Given the description of an element on the screen output the (x, y) to click on. 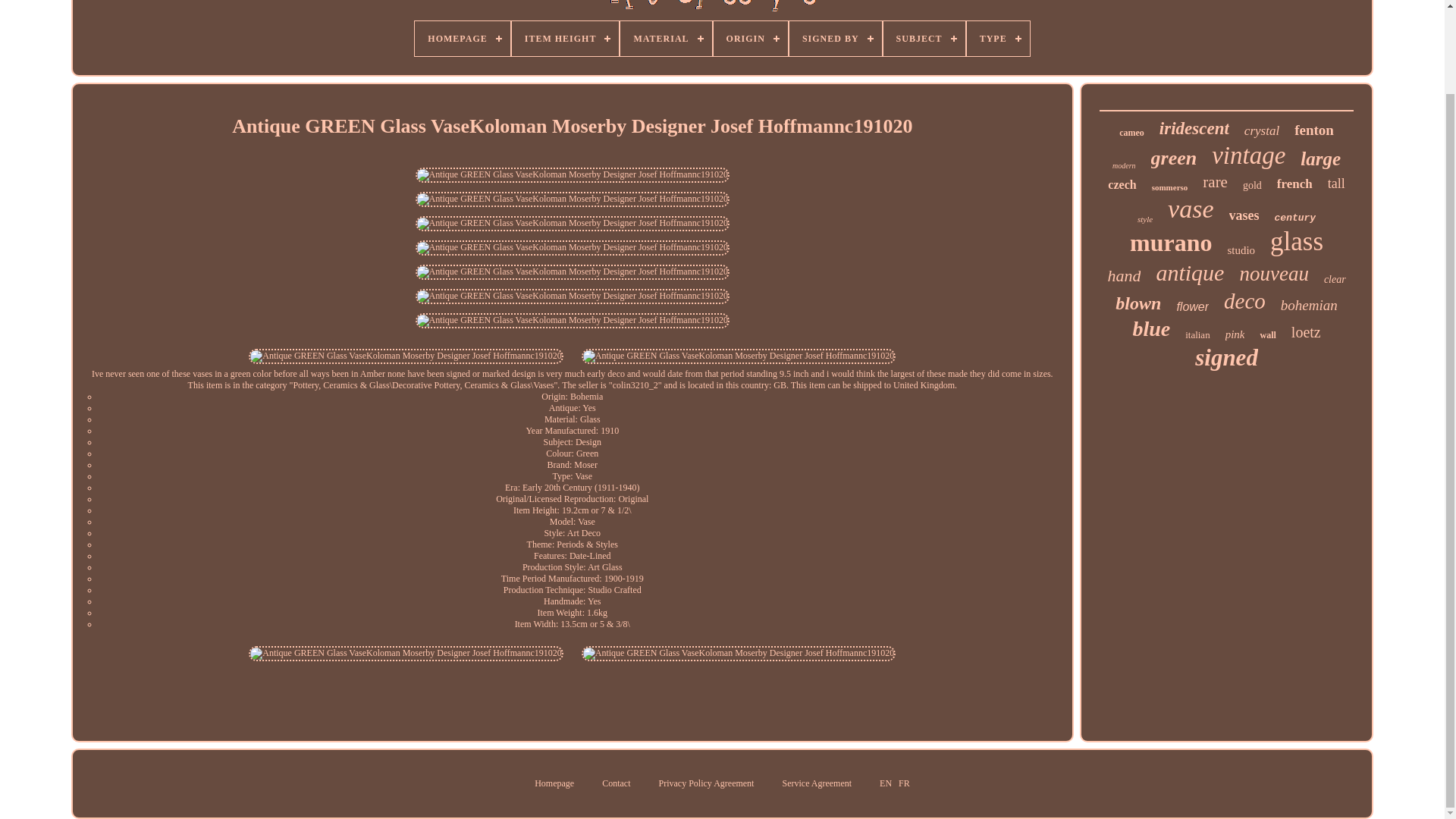
MATERIAL (665, 38)
ITEM HEIGHT (566, 38)
